Given the description of an element on the screen output the (x, y) to click on. 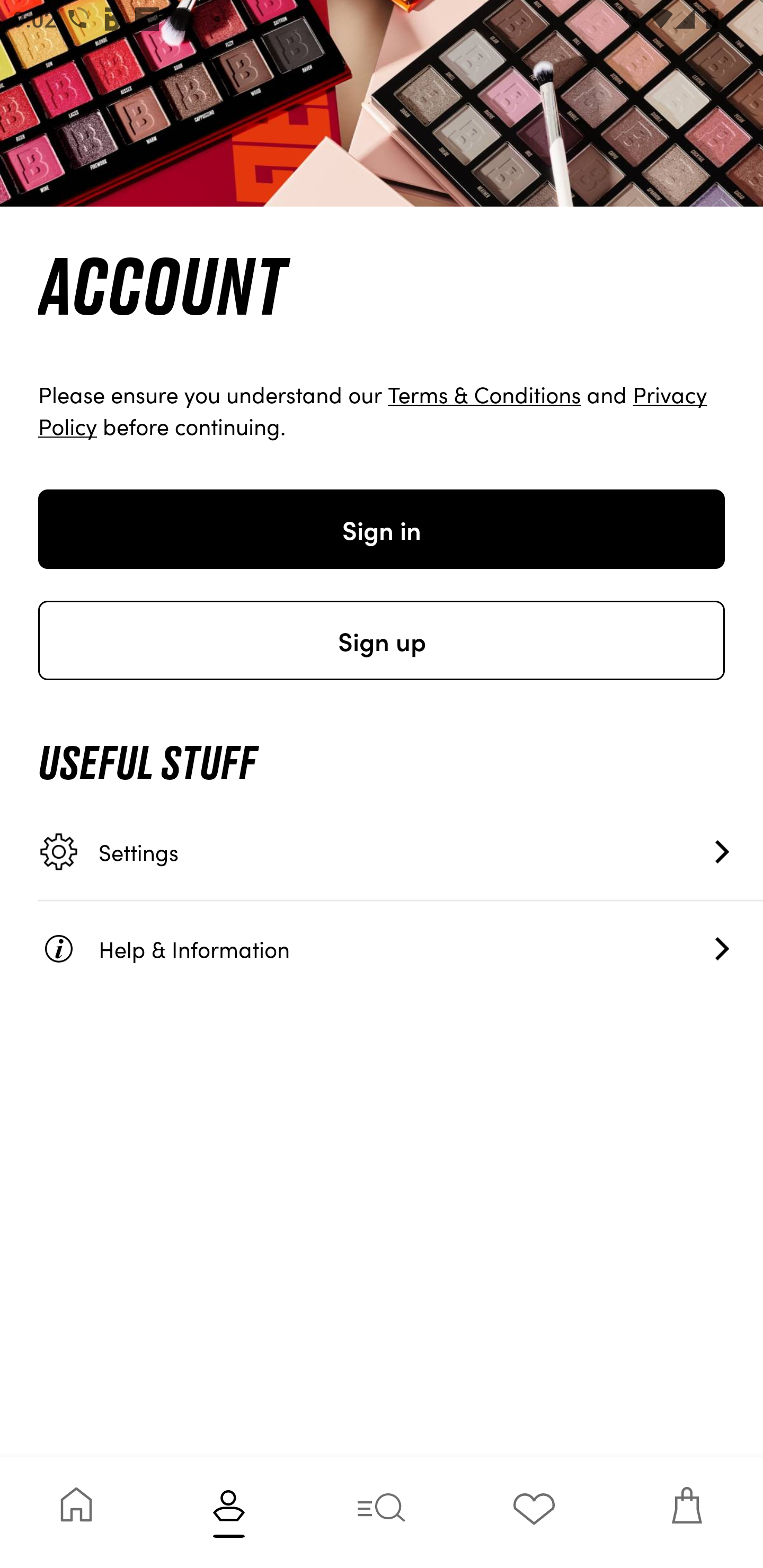
Sign in (381, 529)
Sign up (381, 640)
Settings (400, 852)
Help & Information (400, 948)
